Given the description of an element on the screen output the (x, y) to click on. 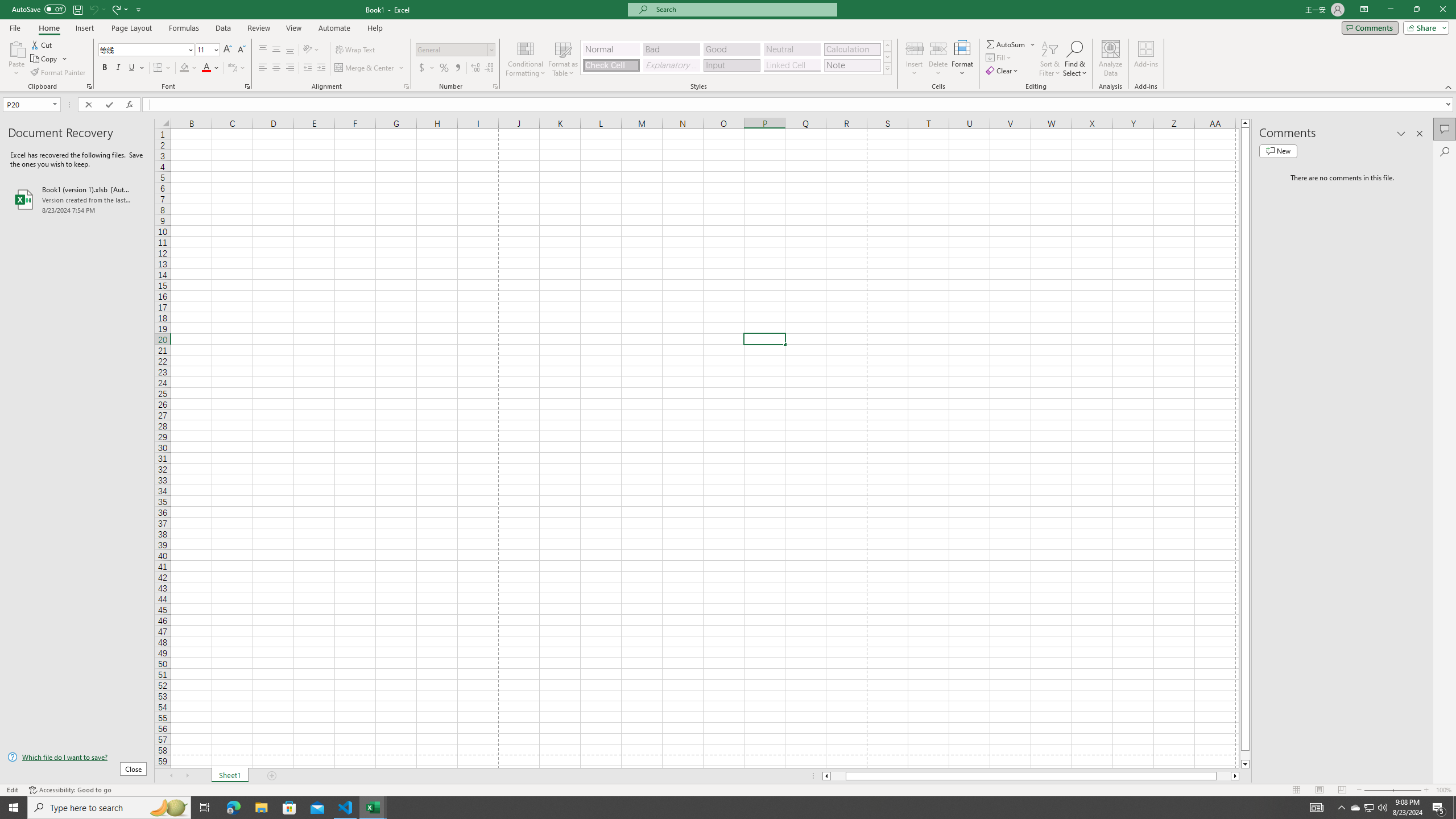
Calculation (852, 49)
AutomationID: CellStylesGallery (736, 57)
Format Cell Number (494, 85)
Zoom In (1426, 790)
Book1 (version 1).xlsb  [AutoRecovered] (77, 199)
Column right (1235, 775)
Sort & Filter (1049, 58)
Conditional Formatting (525, 58)
Normal (611, 49)
System (6, 6)
Comments (1369, 27)
Microsoft search (742, 9)
View (293, 28)
Data (223, 28)
System (6, 6)
